Given the description of an element on the screen output the (x, y) to click on. 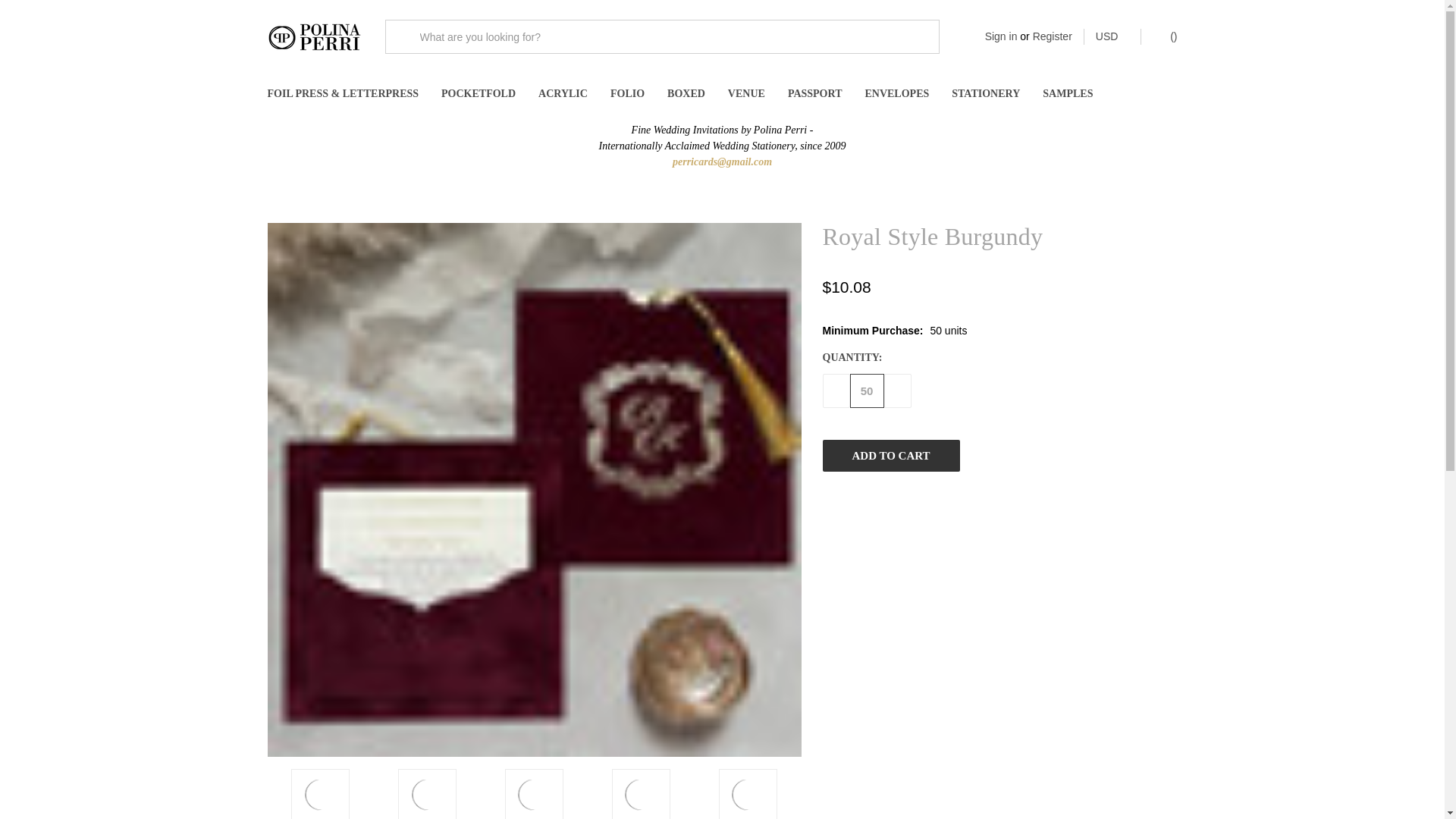
Royal Style Burgundy (748, 794)
USD (1112, 36)
STATIONERY (985, 93)
POCKETFOLD (478, 93)
Royal Style Burgundy (320, 794)
PASSPORT (814, 93)
ENVELOPES (896, 93)
Royal Style Burgundy (534, 794)
ACRYLIC (562, 93)
Royal Style Burgundy (640, 794)
